Given the description of an element on the screen output the (x, y) to click on. 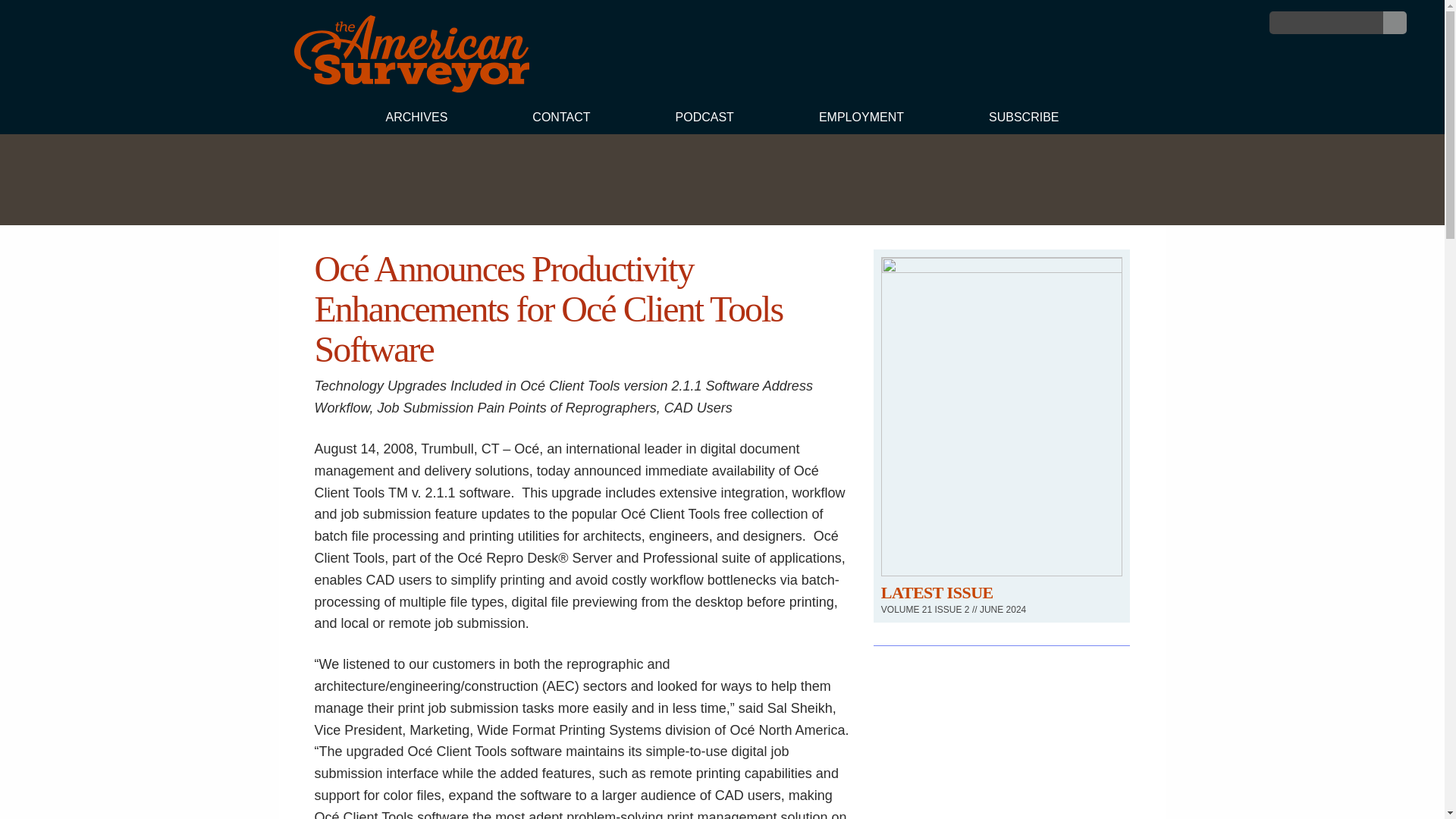
Submit (1394, 22)
Submit (1394, 22)
The American Surveyor (411, 88)
CONTACT (560, 119)
SUBSCRIBE (1024, 119)
Search for: (1326, 22)
Submit (1394, 22)
EMPLOYMENT (861, 119)
PODCAST (704, 119)
The American Surveyor (411, 53)
ARCHIVES (415, 119)
